Given the description of an element on the screen output the (x, y) to click on. 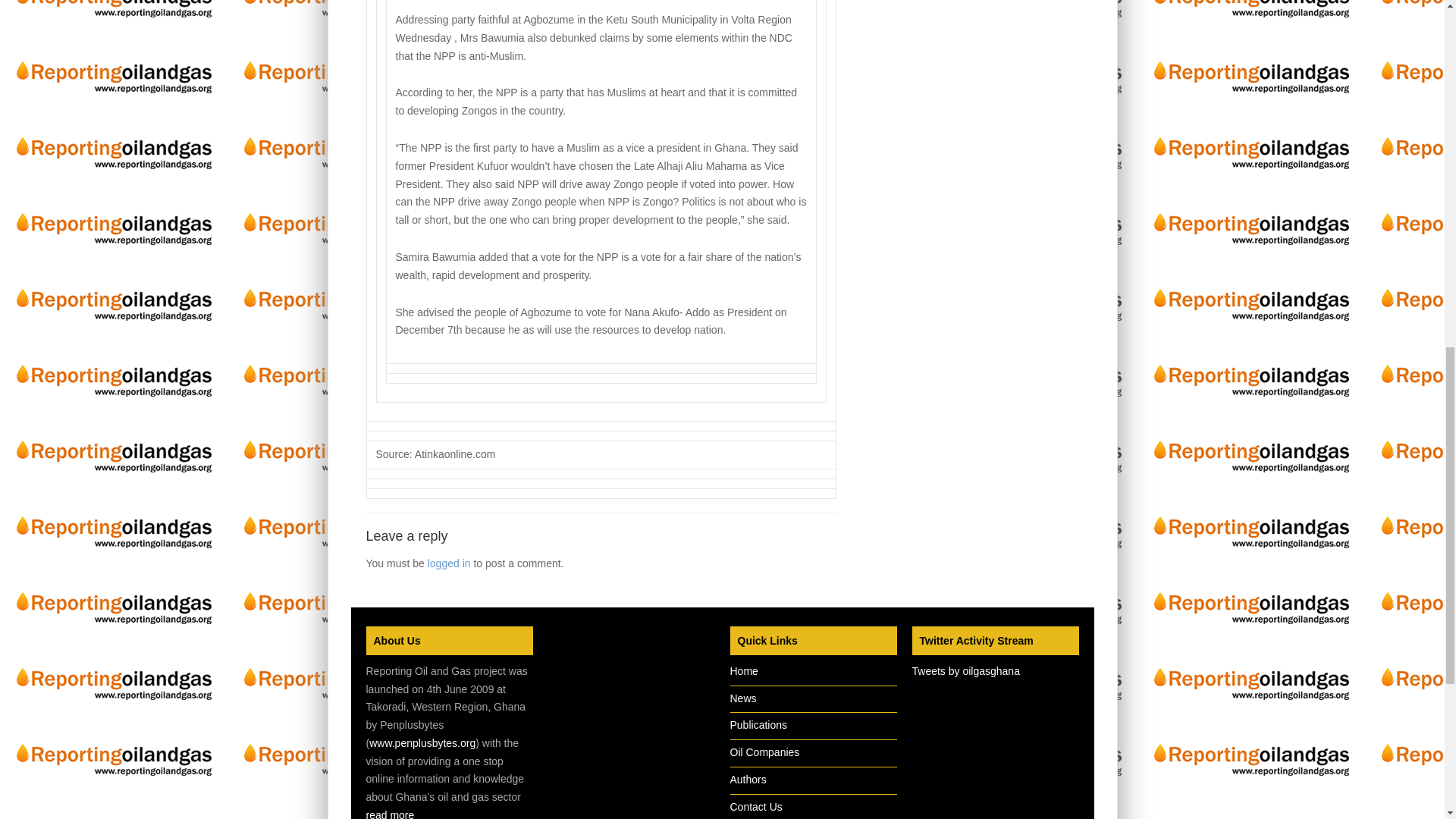
read more (389, 814)
Oil Companies (764, 752)
Publications (758, 725)
www.penplusbytes.org (422, 743)
Contact Us (755, 806)
logged in (449, 563)
Home (743, 671)
News (742, 697)
Tweets by oilgasghana (965, 671)
Authors (747, 779)
